Given the description of an element on the screen output the (x, y) to click on. 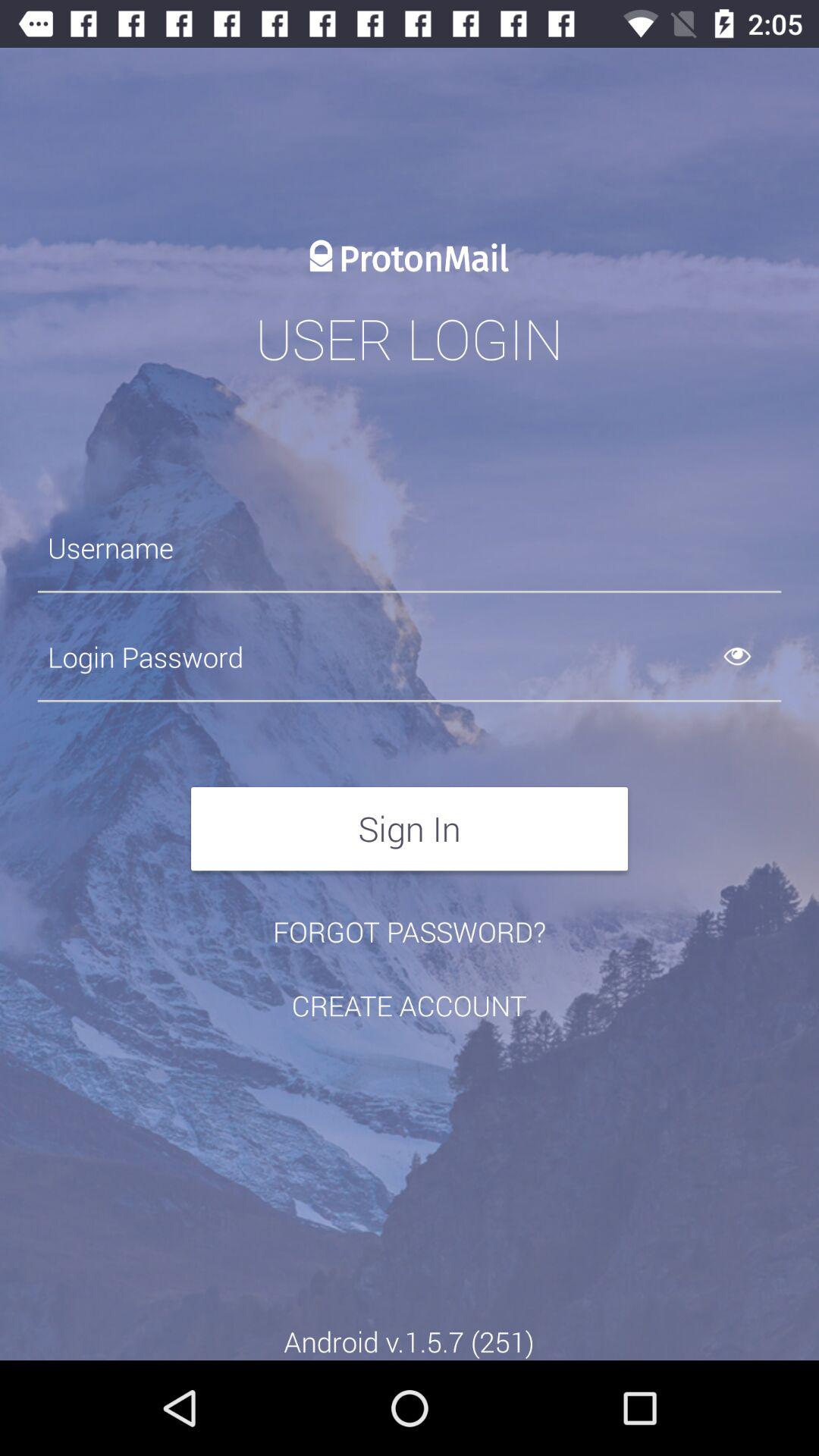
auto log in with my password (409, 656)
